Given the description of an element on the screen output the (x, y) to click on. 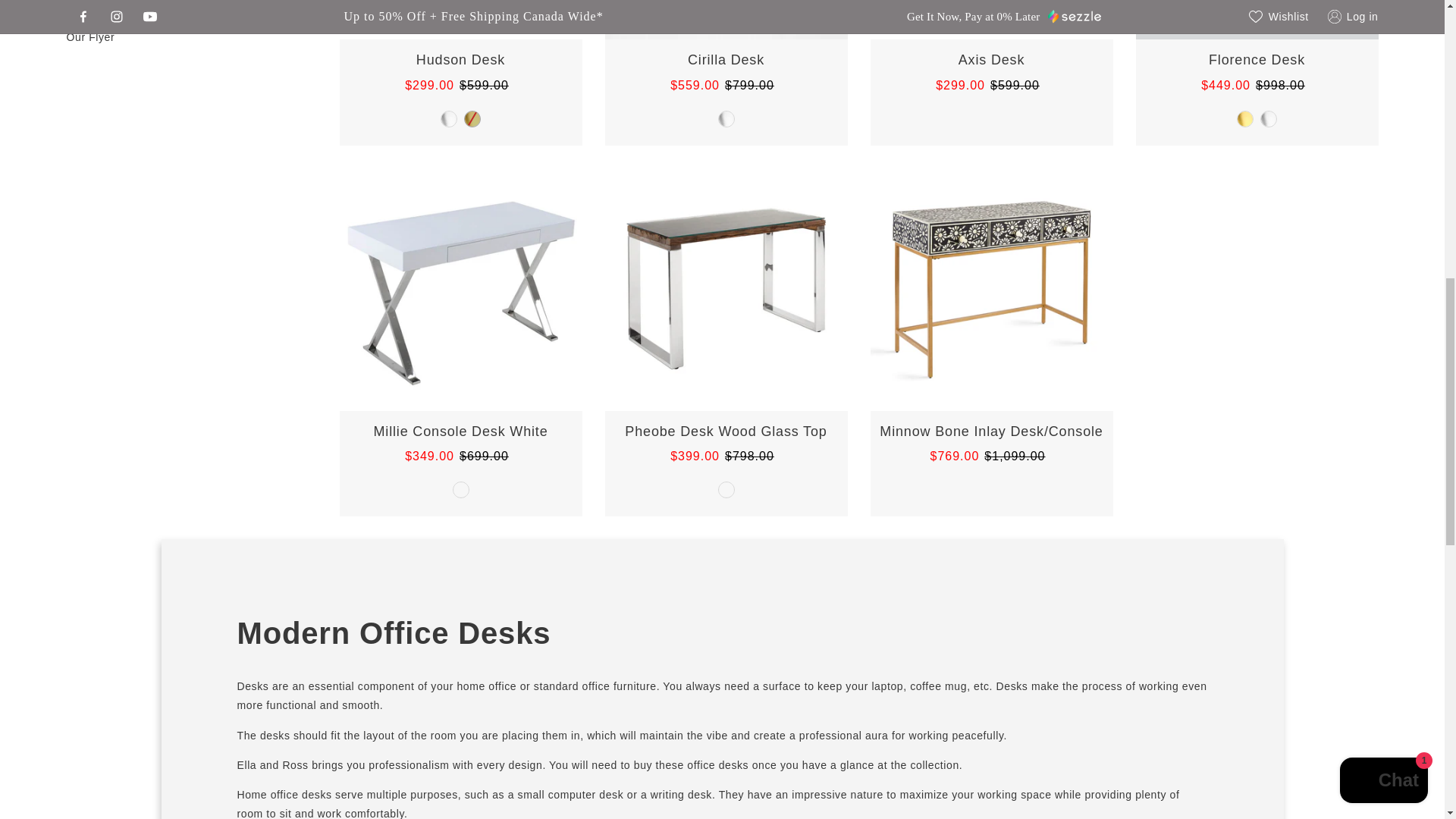
Gold (472, 118)
